Given the description of an element on the screen output the (x, y) to click on. 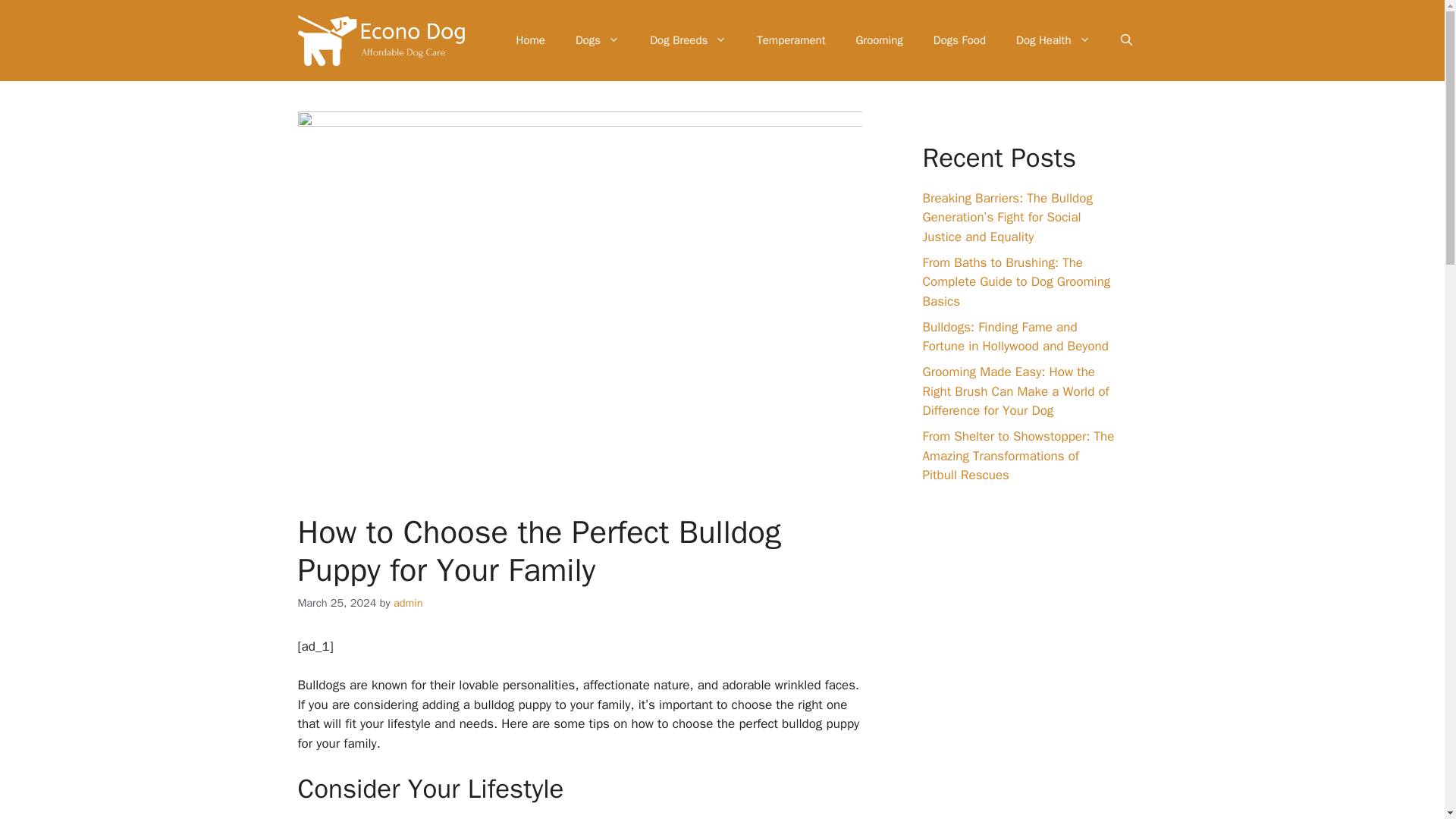
Bulldogs: Finding Fame and Fortune in Hollywood and Beyond (1014, 336)
Dog Health (1053, 40)
Grooming (878, 40)
View all posts by admin (408, 602)
admin (408, 602)
Dogs (597, 40)
Dogs Food (959, 40)
Temperament (790, 40)
